Given the description of an element on the screen output the (x, y) to click on. 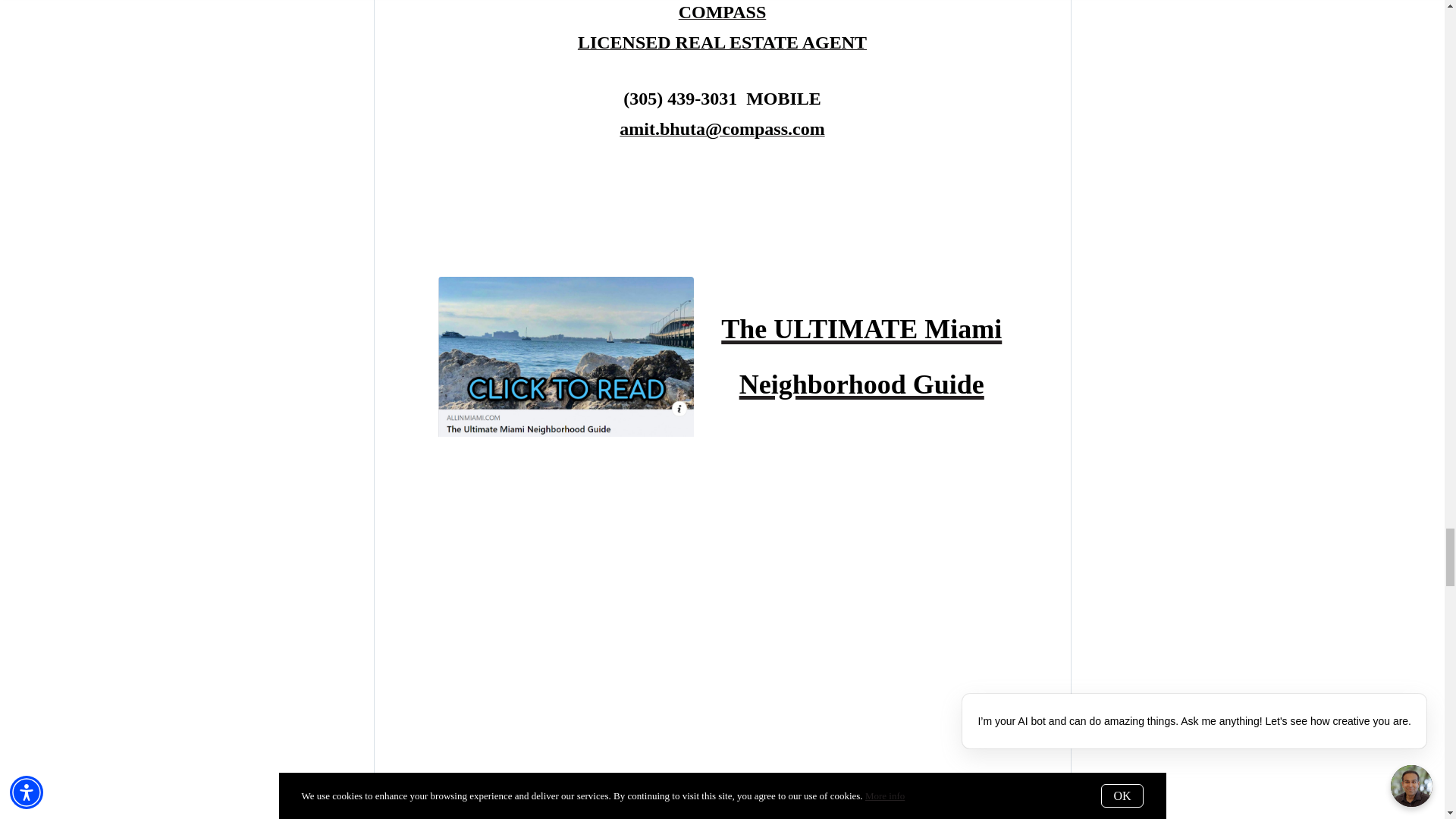
COMPASS (722, 13)
LICENSED REAL ESTATE AGENT (722, 43)
The ULTIMATE Miami Neighborhood Guide (860, 352)
